Given the description of an element on the screen output the (x, y) to click on. 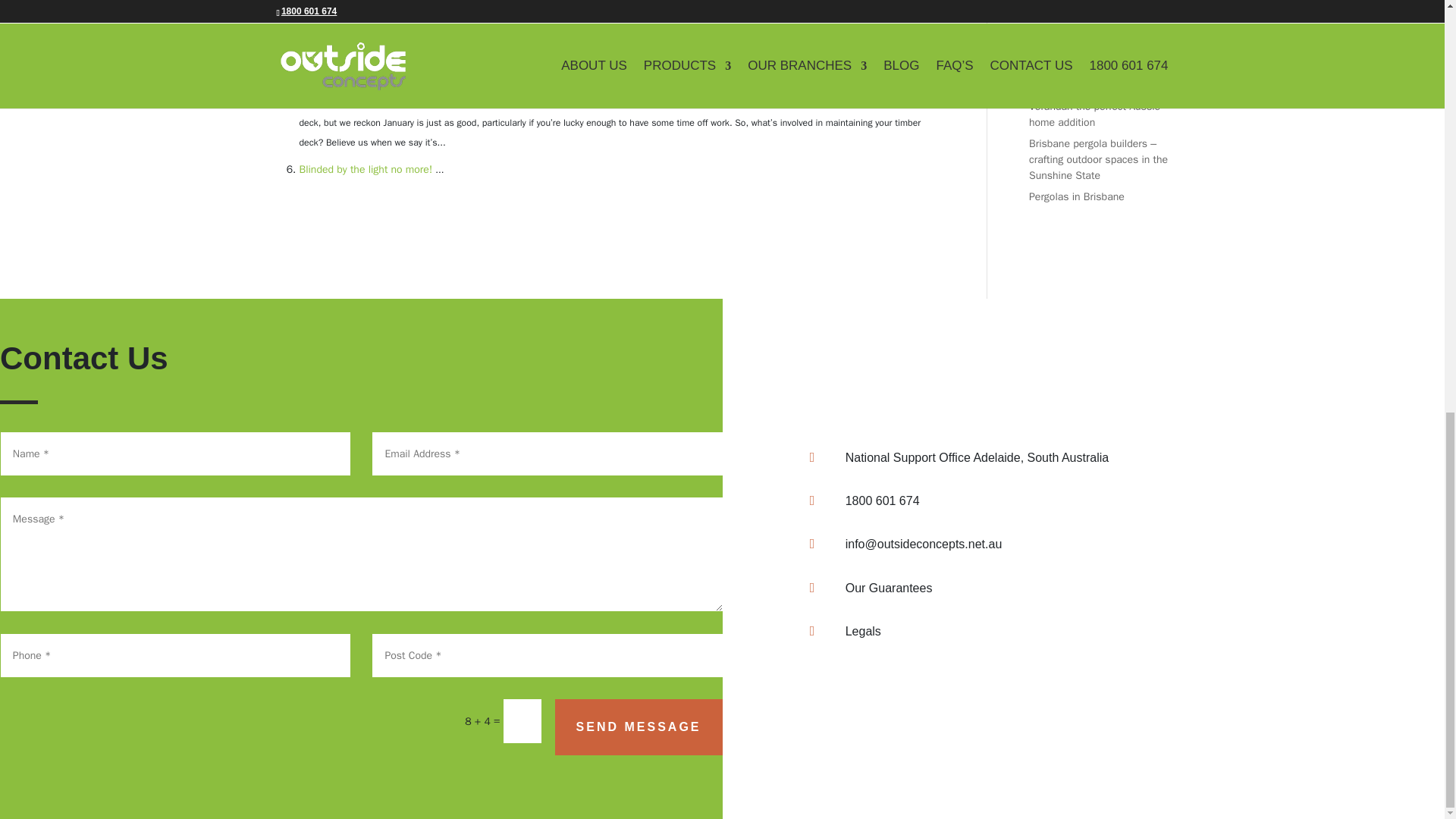
Blinded by the light no more! (365, 169)
Minimum length: 11 characters.  (547, 453)
Maintain your Geelong deck and reap the benefits (413, 102)
Build a new pergola and reap the benefits (395, 35)
Maximum length: 10 characters. (547, 655)
